Given the description of an element on the screen output the (x, y) to click on. 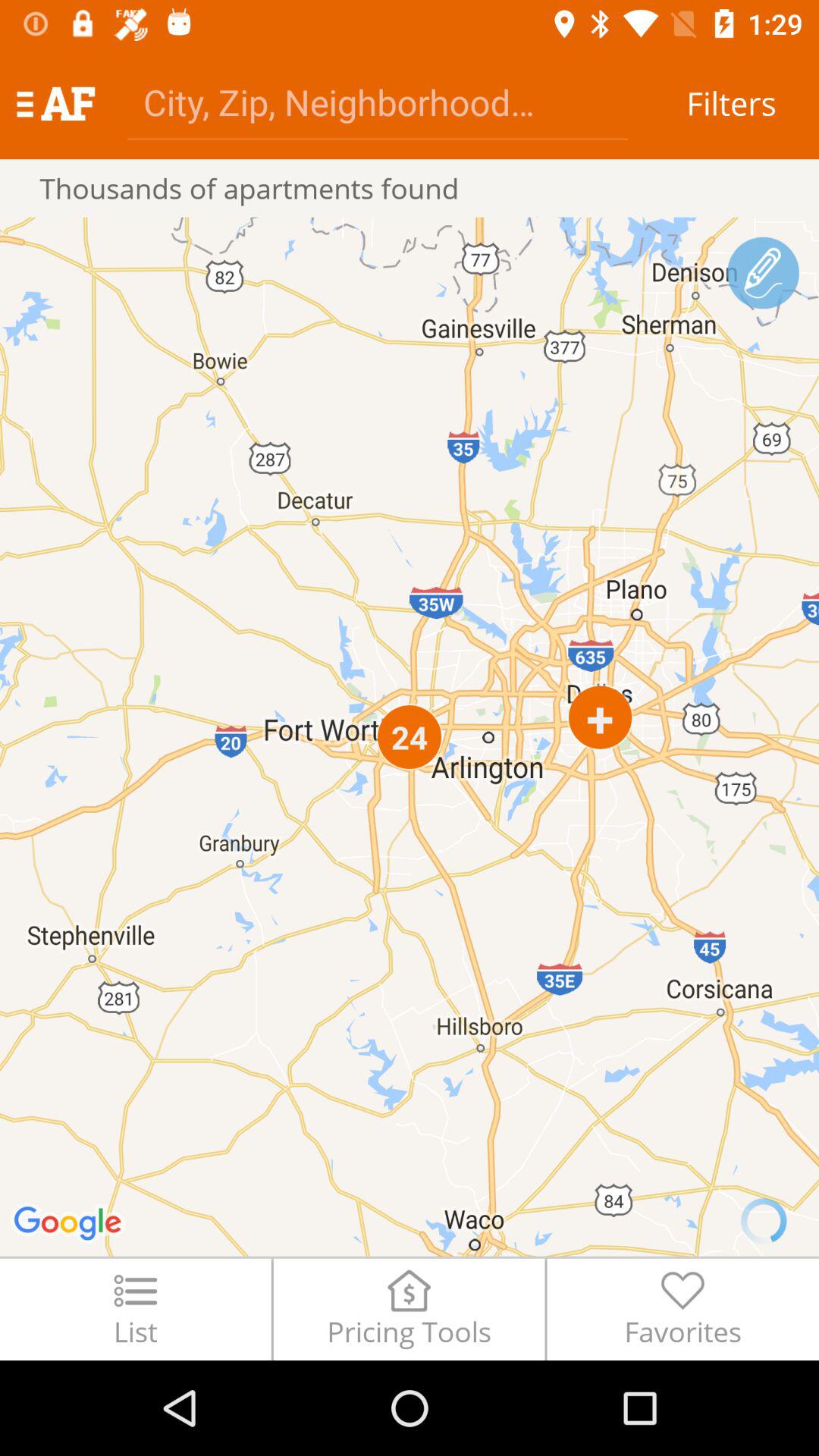
turn off the item next to the favorites icon (408, 1309)
